Given the description of an element on the screen output the (x, y) to click on. 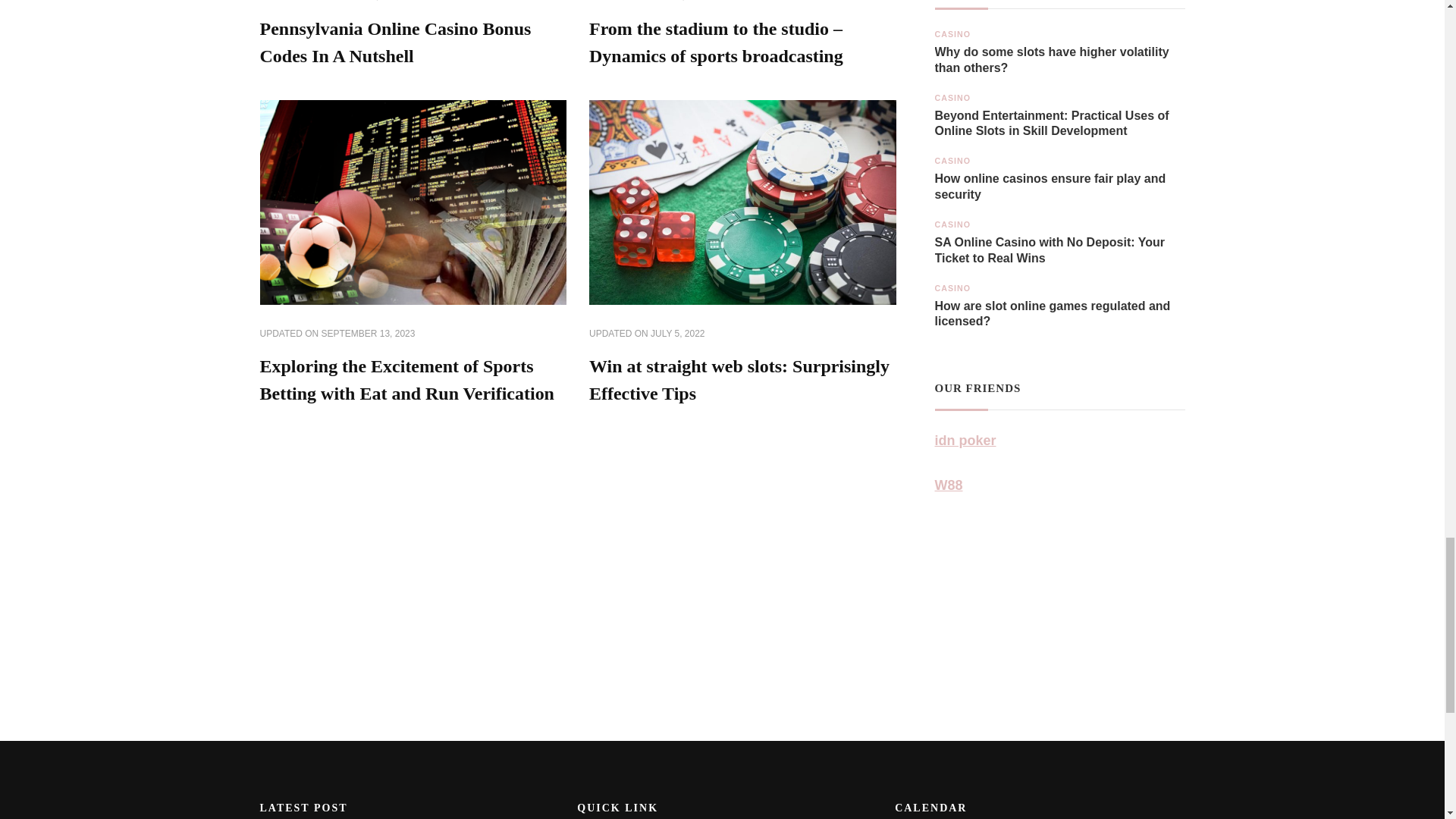
Win at straight web slots: Surprisingly Effective Tips (739, 379)
MAY 10, 2024 (678, 2)
Pennsylvania Online Casino Bonus Codes In A Nutshell (395, 42)
SEPTEMBER 13, 2023 (367, 334)
JULY 5, 2022 (677, 334)
JANUARY 23, 2023 (361, 2)
